Given the description of an element on the screen output the (x, y) to click on. 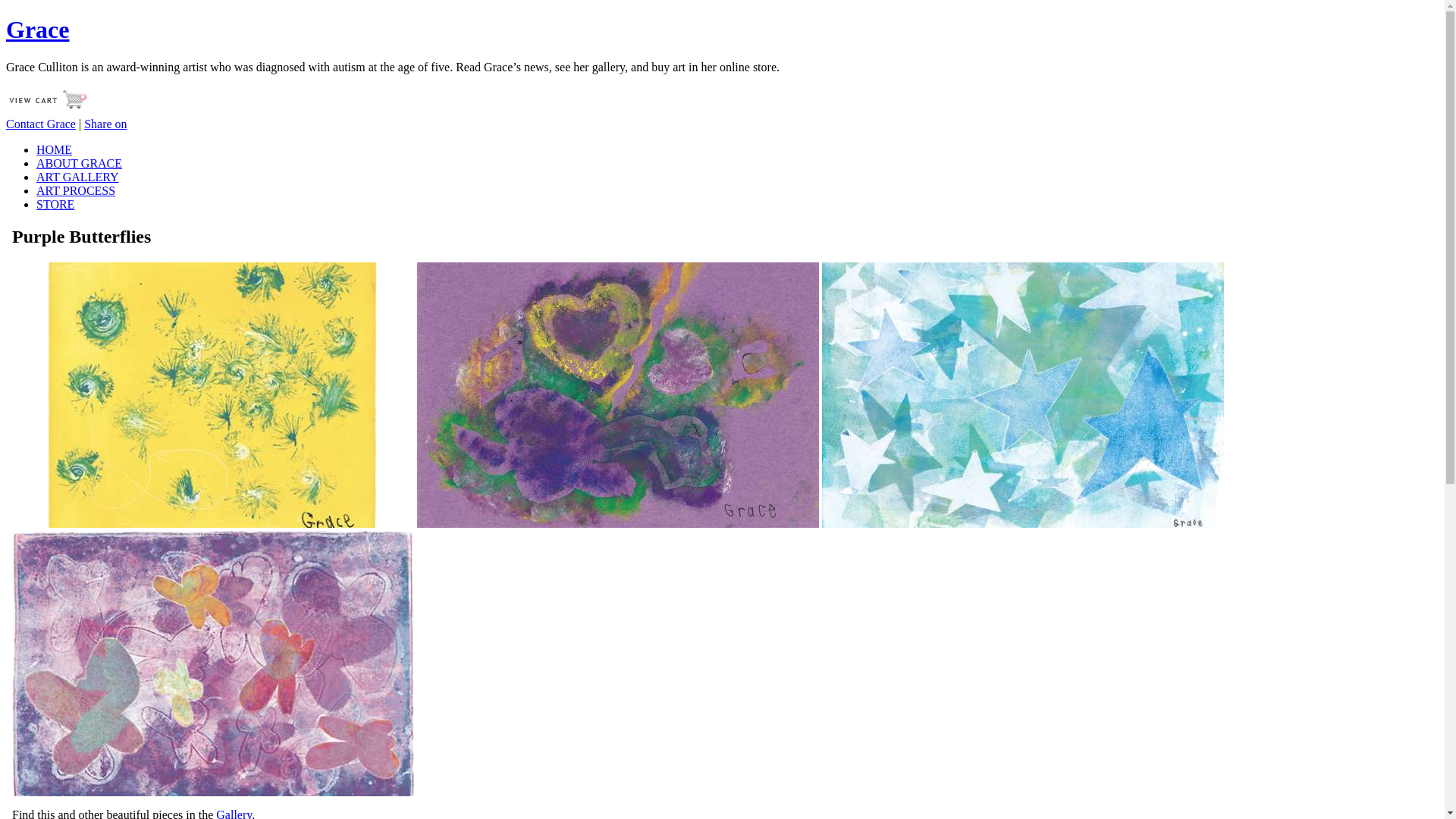
HOME Element type: text (54, 149)
Contact Grace Element type: text (40, 123)
Share on Element type: text (105, 123)
ART PROCESS Element type: text (75, 190)
Grace Element type: text (37, 29)
Purple Butterflies Element type: hover (213, 663)
STORE Element type: text (55, 203)
ART GALLERY Element type: text (77, 176)
ABOUT GRACE Element type: text (79, 162)
Dandelion Seeds Element type: hover (213, 394)
You're a Star Element type: hover (1022, 394)
Purple Heart Element type: hover (618, 394)
